Given the description of an element on the screen output the (x, y) to click on. 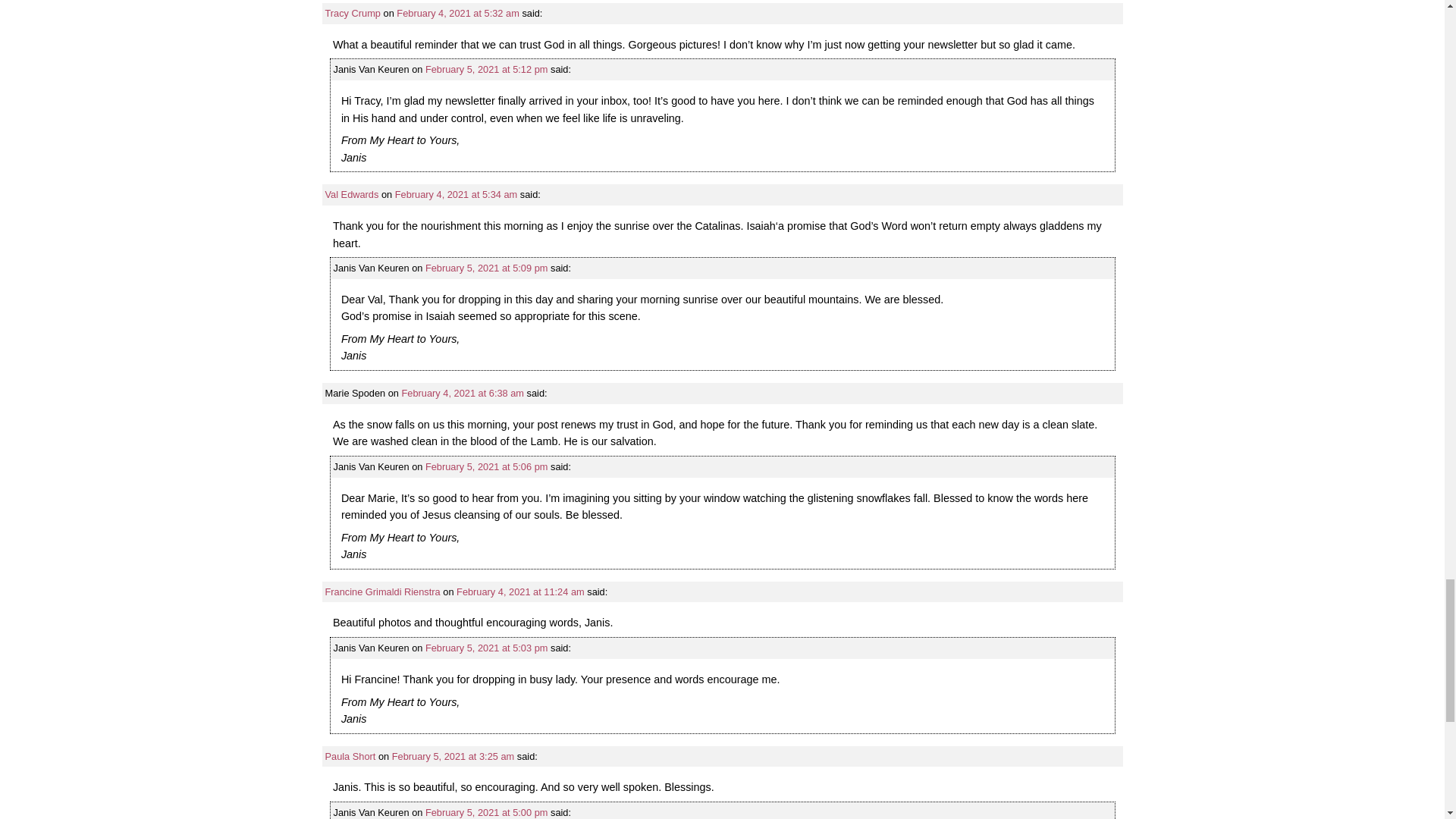
February 4, 2021 at 5:32 am (457, 12)
February 5, 2021 at 5:12 pm (486, 69)
Tracy Crump (352, 12)
Val Edwards (351, 194)
